Given the description of an element on the screen output the (x, y) to click on. 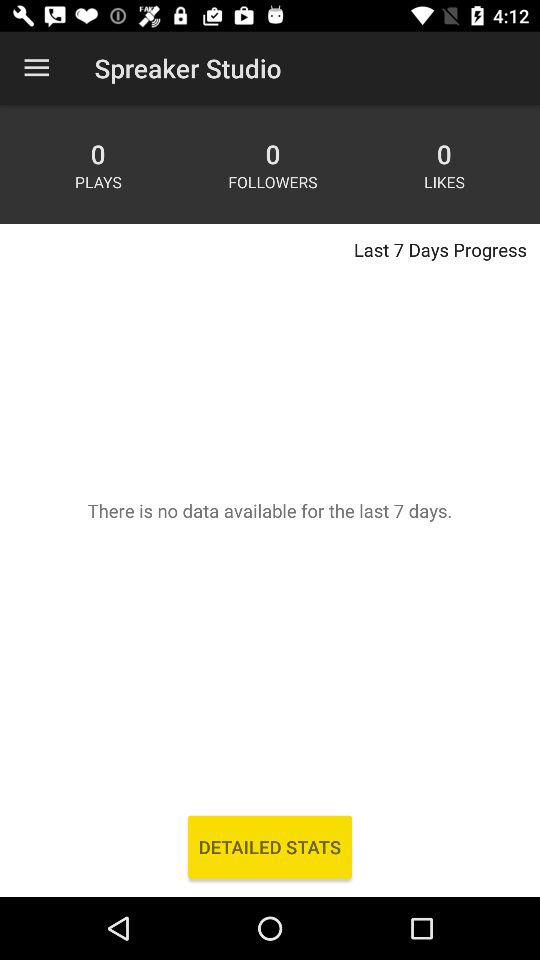
choose app next to the spreaker studio app (36, 68)
